Given the description of an element on the screen output the (x, y) to click on. 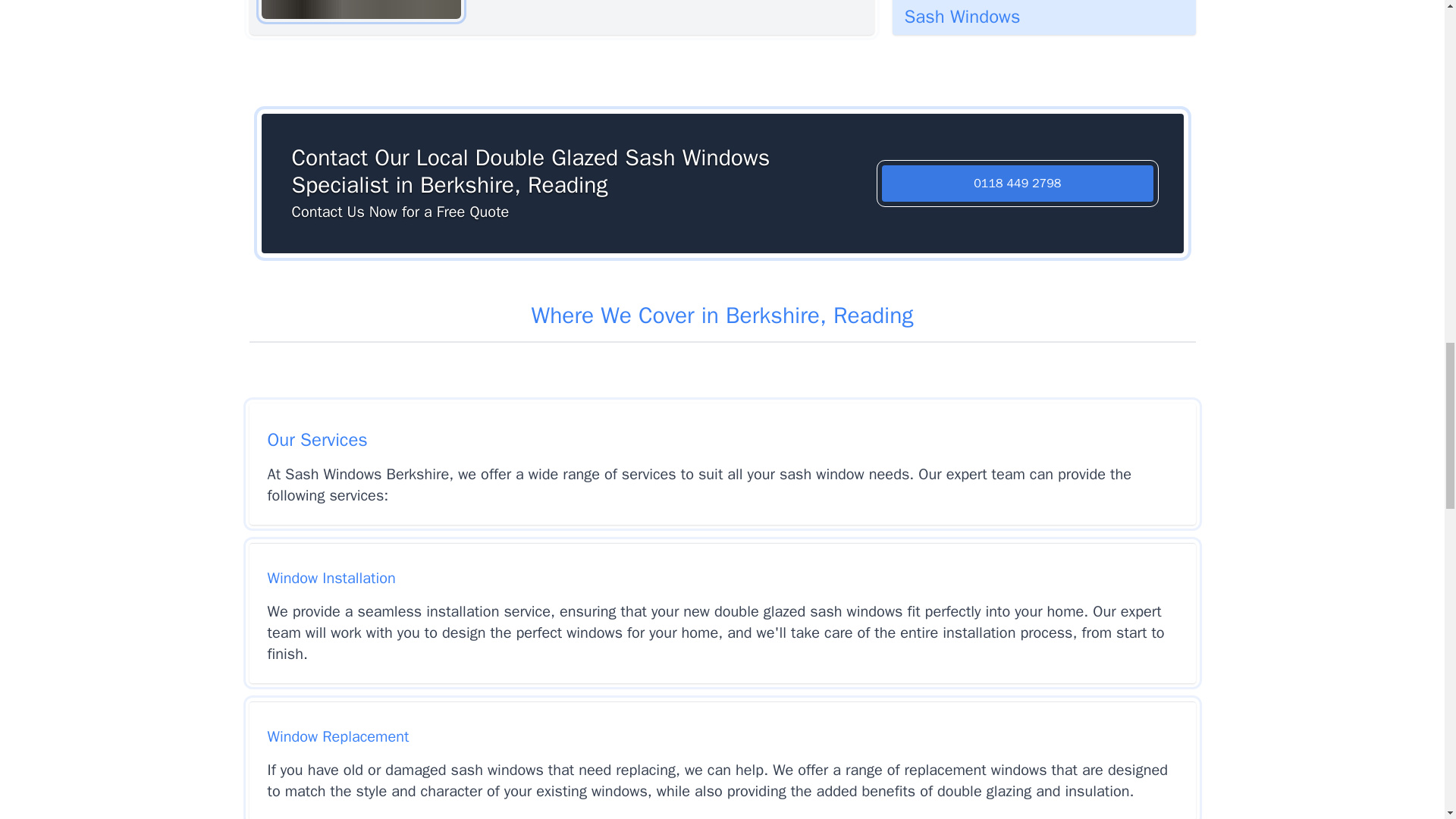
0118 449 2798 (1017, 183)
Timber: The Natural Choice for Sash Windows (1043, 17)
